Given the description of an element on the screen output the (x, y) to click on. 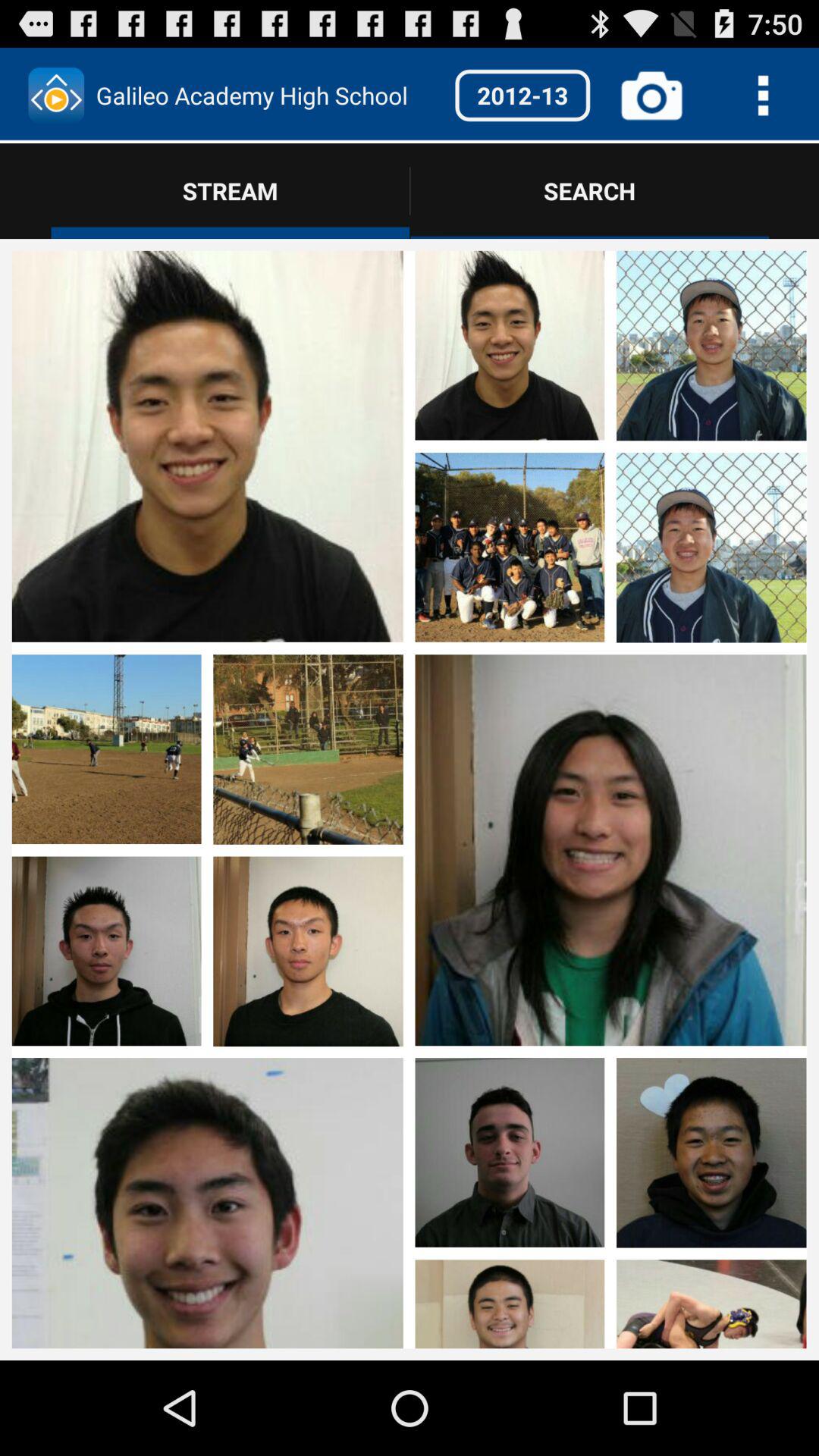
view the image (610, 1199)
